Given the description of an element on the screen output the (x, y) to click on. 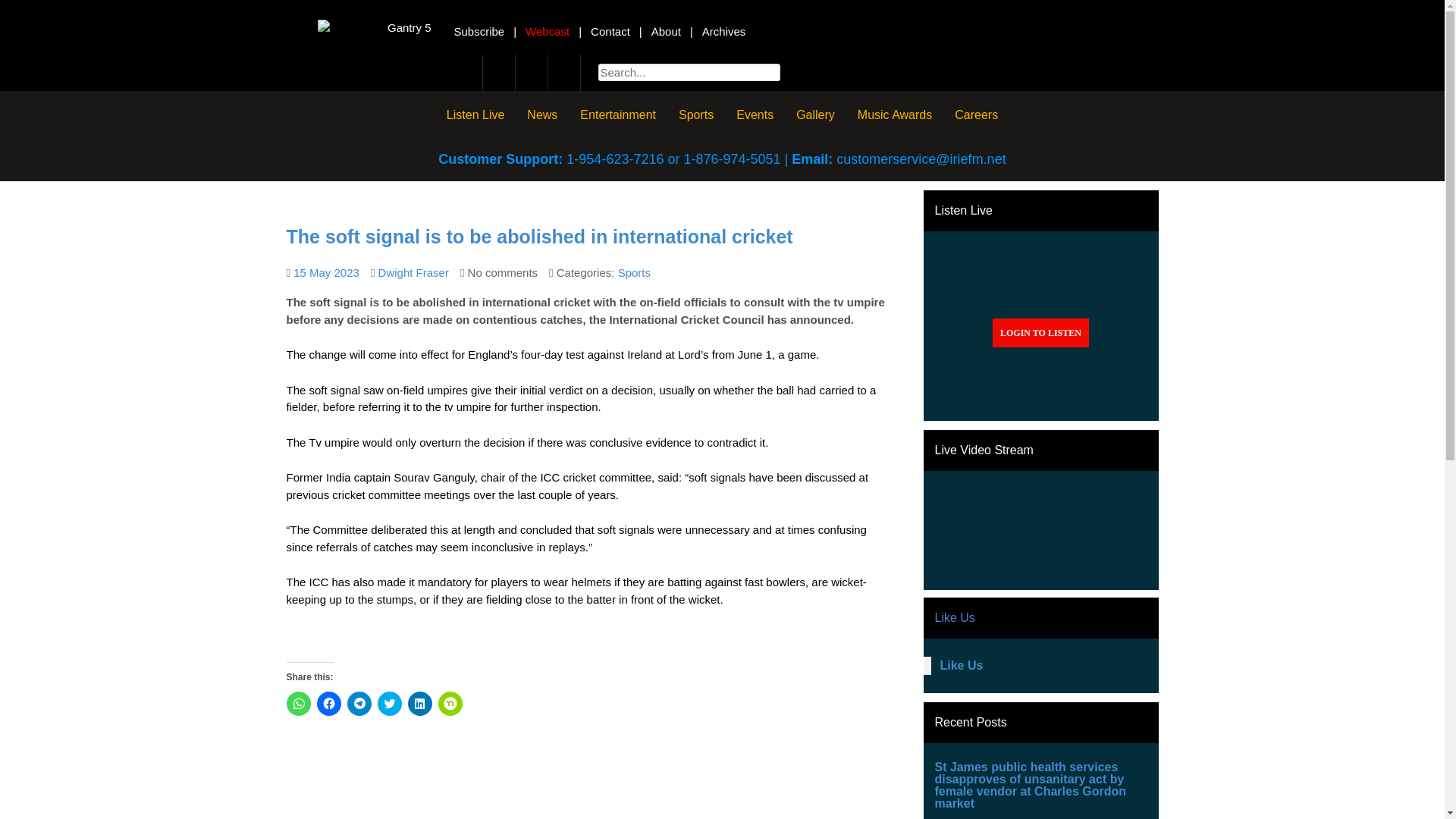
Entertainment (617, 114)
1-876-974-5051 (731, 159)
Webcast (547, 31)
Contact (610, 31)
The soft signal is to be abolished in international cricket (326, 272)
Music Awards (894, 114)
Archives (723, 31)
Gallery (814, 114)
Click to share on LinkedIn (419, 703)
Gantry 5 (373, 27)
